Given the description of an element on the screen output the (x, y) to click on. 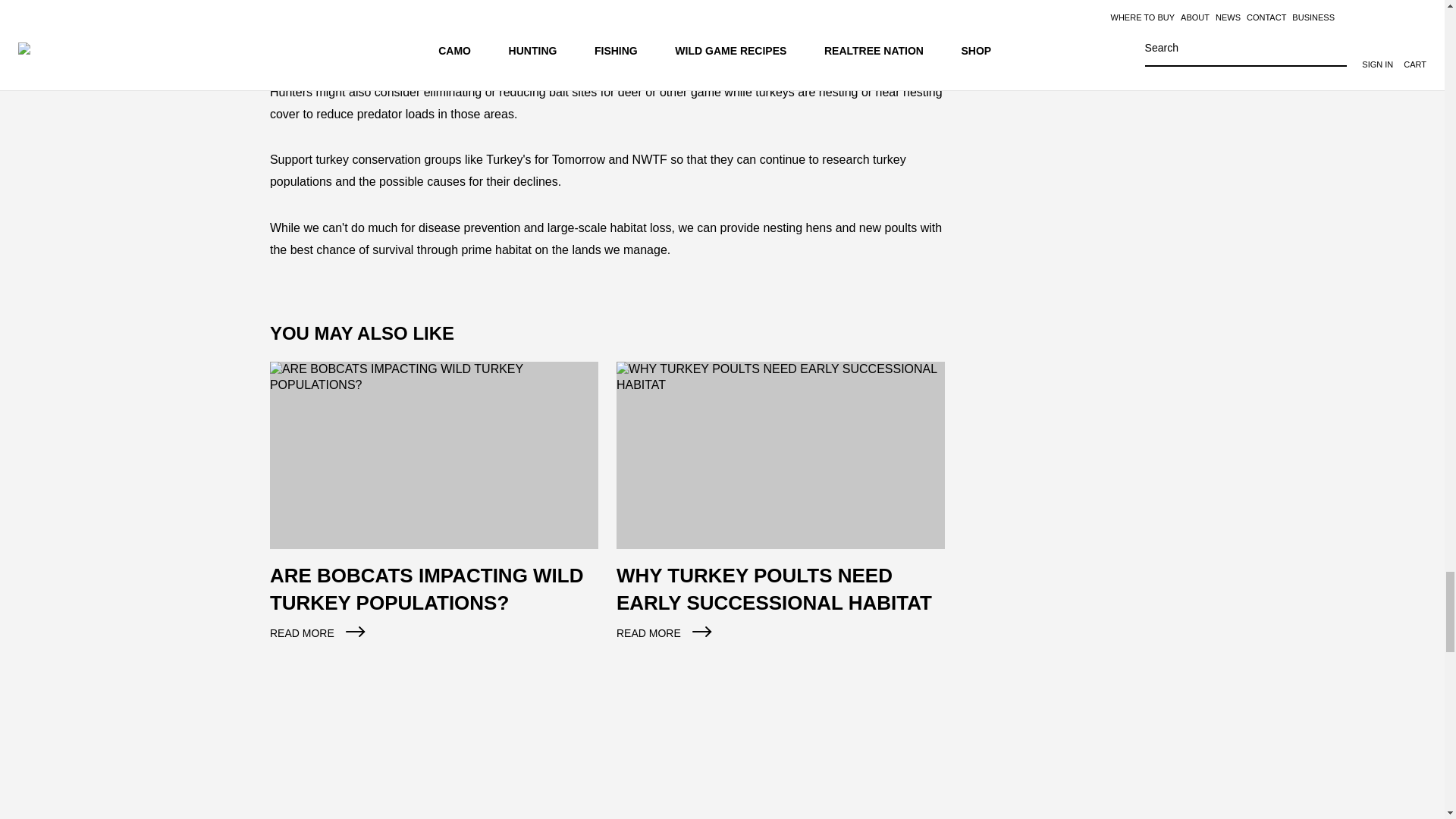
Are Bobcats Impacting Wild Turkey Populations? (433, 510)
Why Turkey Poults Need Early Successional Habitat (779, 510)
